Given the description of an element on the screen output the (x, y) to click on. 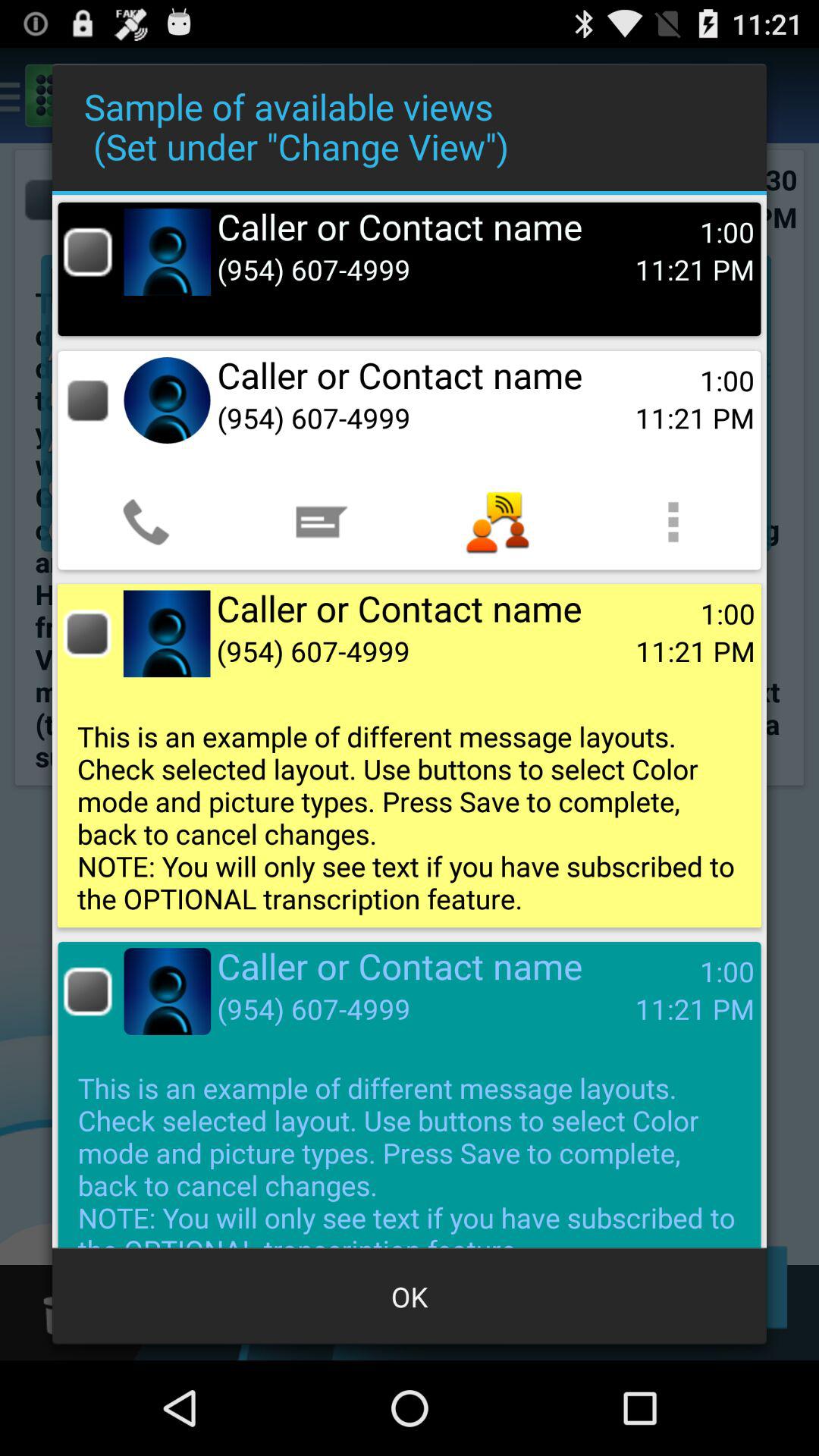
check box to select (87, 633)
